Given the description of an element on the screen output the (x, y) to click on. 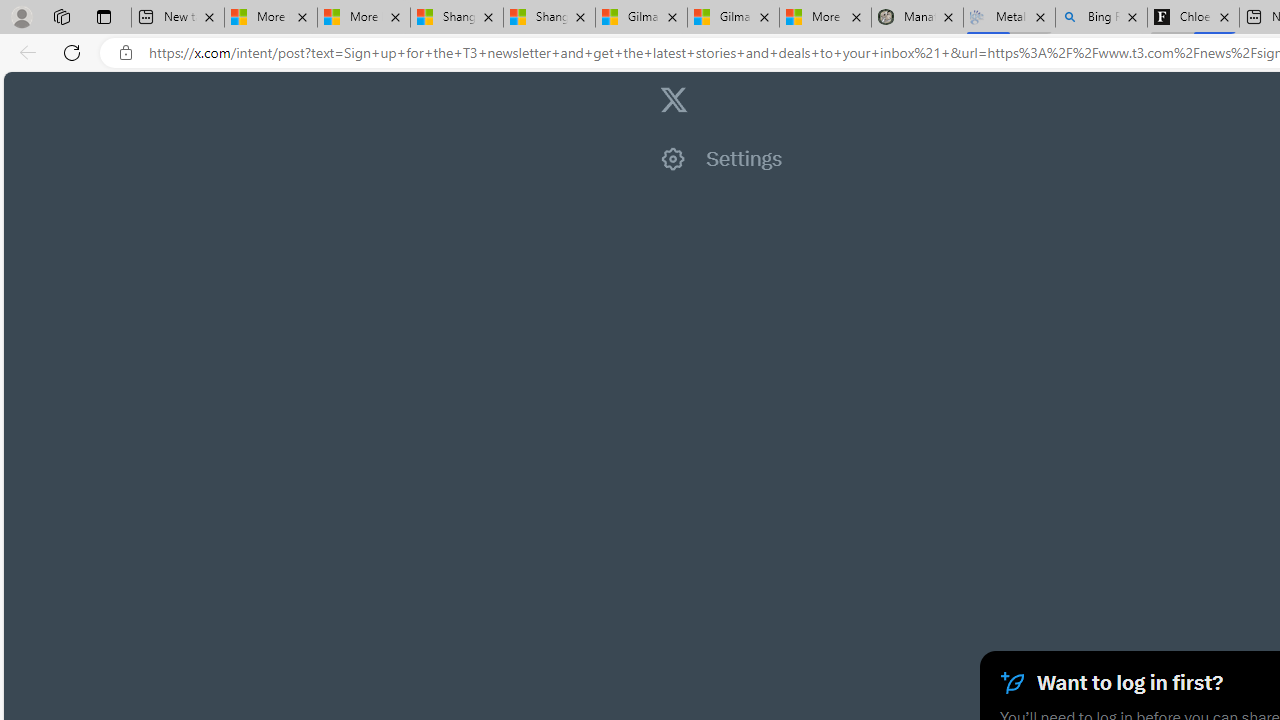
Bing Real Estate - Home sales and rental listings (1101, 17)
